Given the description of an element on the screen output the (x, y) to click on. 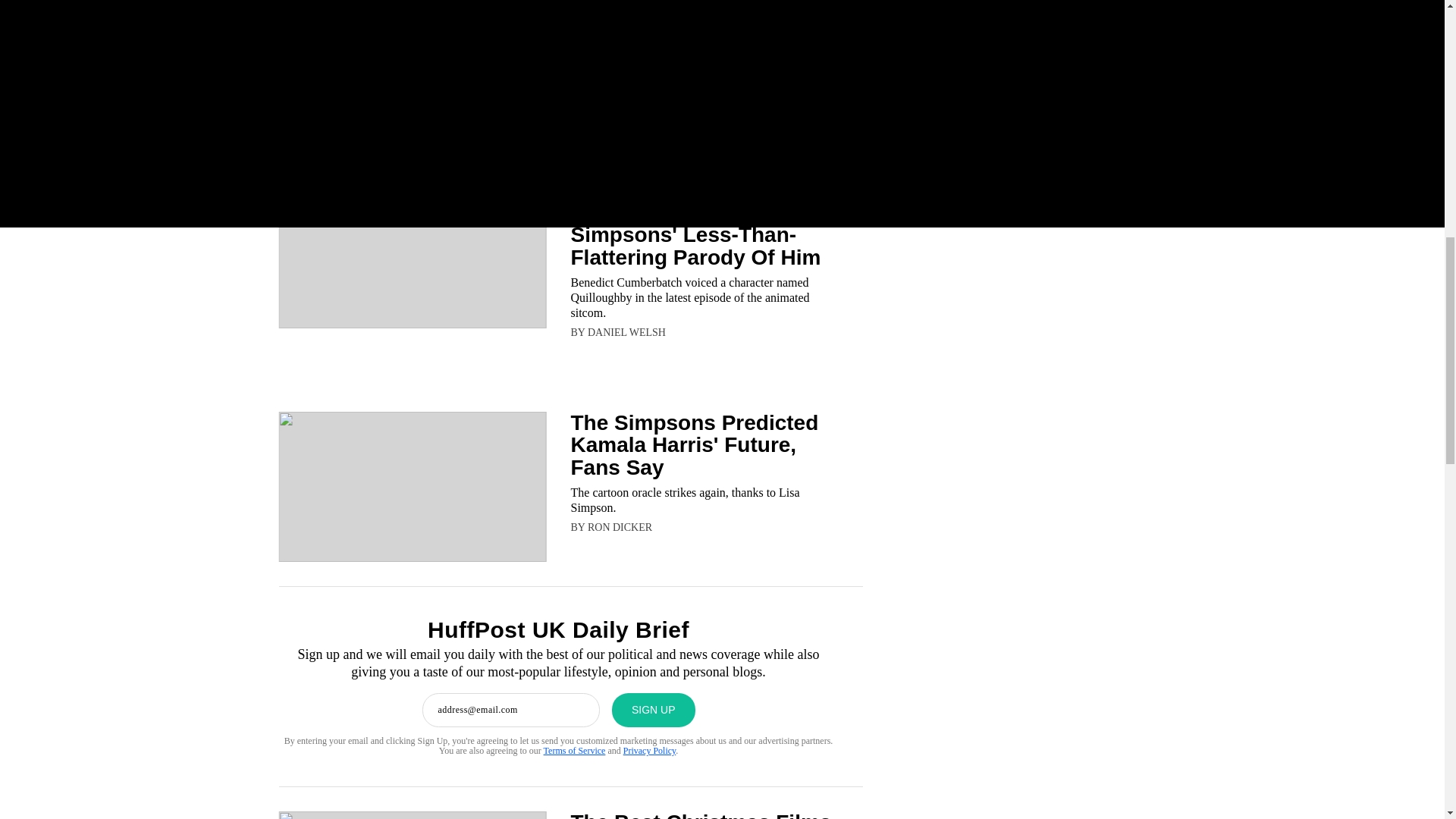
SIGN UP (653, 709)
